Given the description of an element on the screen output the (x, y) to click on. 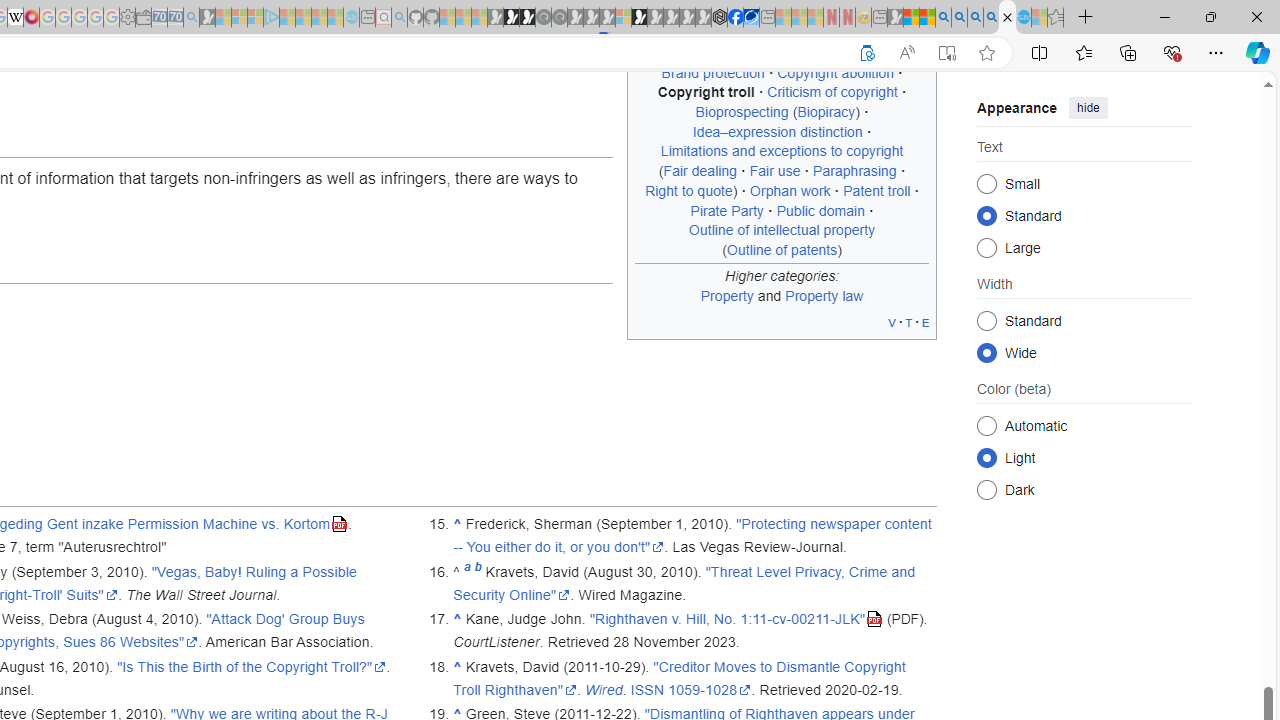
Google Chrome Internet Browser Download - Search Images (991, 17)
Property law (824, 295)
